Given the description of an element on the screen output the (x, y) to click on. 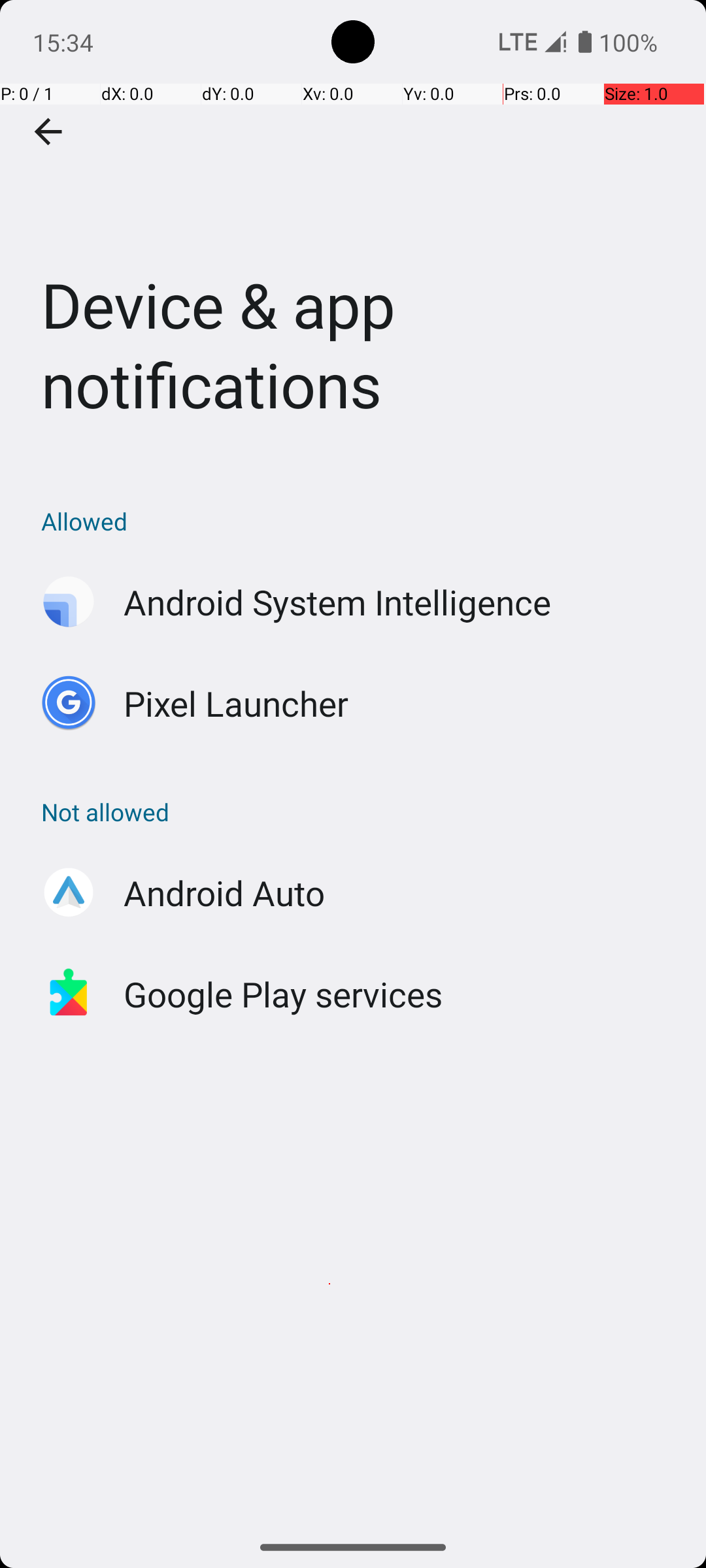
Allowed Element type: android.widget.TextView (359, 520)
Android System Intelligence Element type: android.widget.TextView (337, 601)
Not allowed Element type: android.widget.TextView (359, 811)
Google Play services Element type: android.widget.TextView (283, 993)
